Given the description of an element on the screen output the (x, y) to click on. 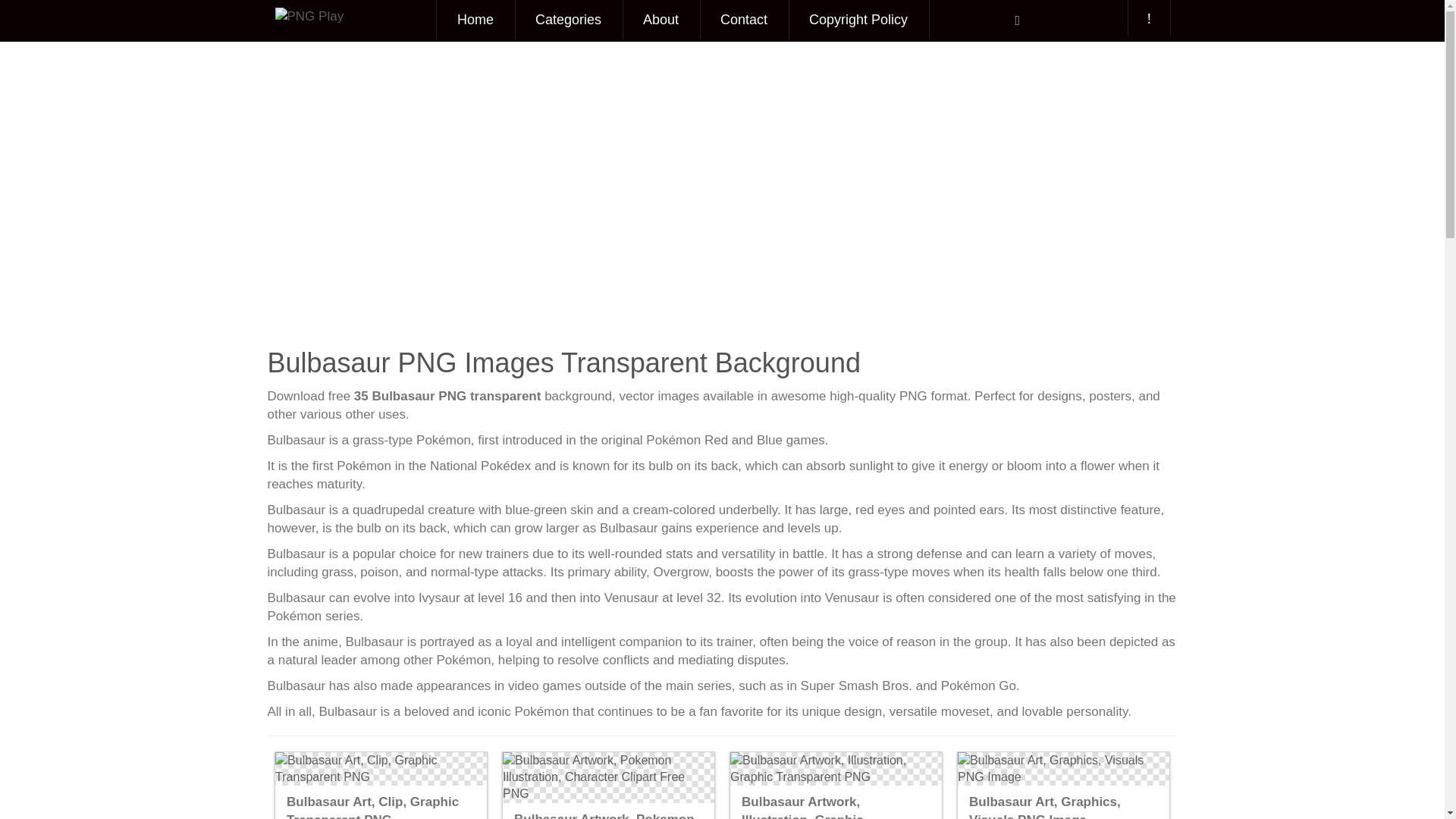
Bulbasaur Art, Clip, Graphic Transparent PNG (380, 769)
Contact (743, 19)
About (660, 19)
Home (474, 19)
Categories (568, 19)
Copyright Policy (858, 19)
